Given the description of an element on the screen output the (x, y) to click on. 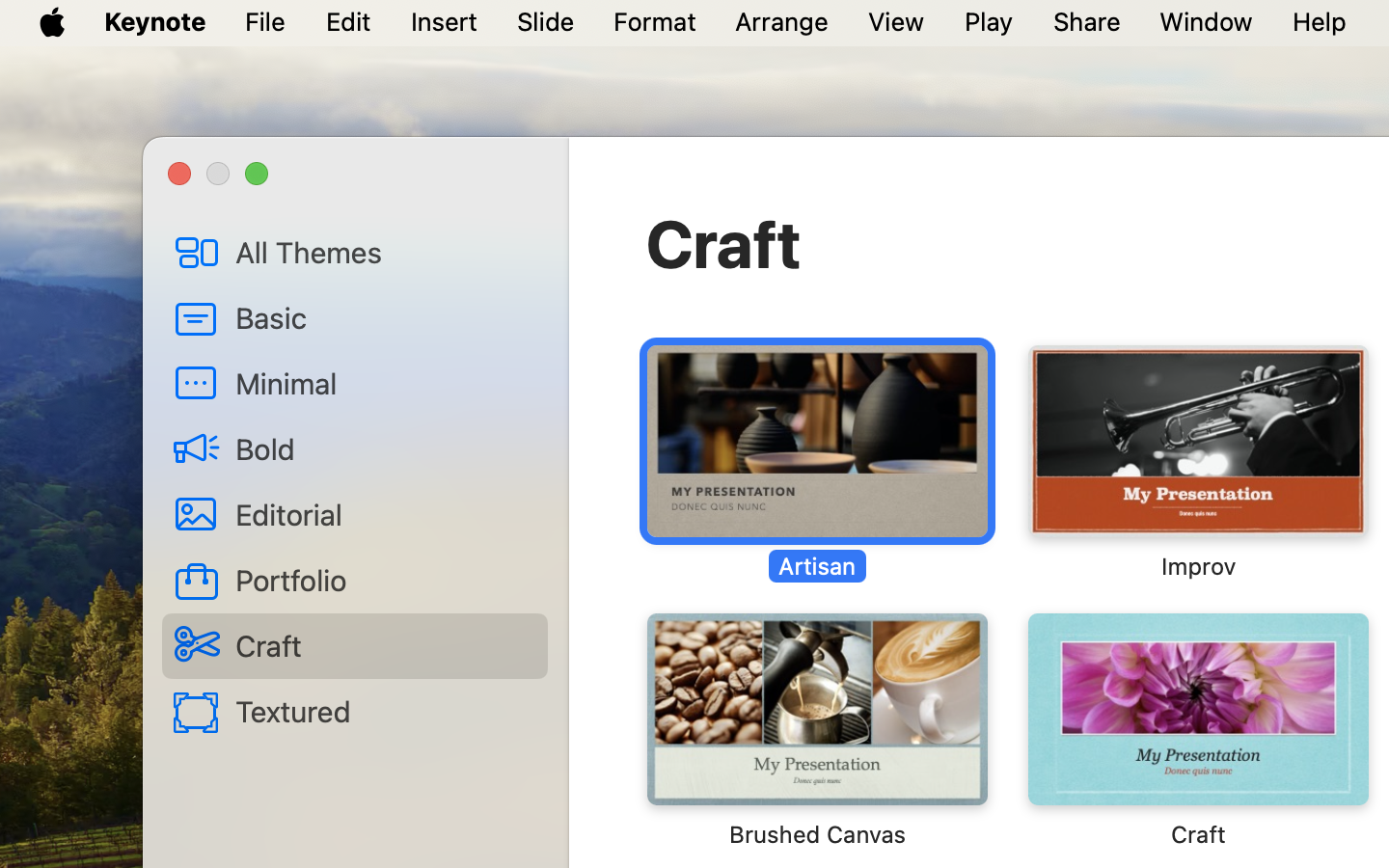
Portfolio Element type: AXStaticText (383, 579)
‎⁨Improv⁩ Element type: AXButton (1196, 462)
Bold Element type: AXStaticText (383, 448)
All Themes Element type: AXStaticText (383, 251)
Minimal Element type: AXStaticText (383, 382)
